Given the description of an element on the screen output the (x, y) to click on. 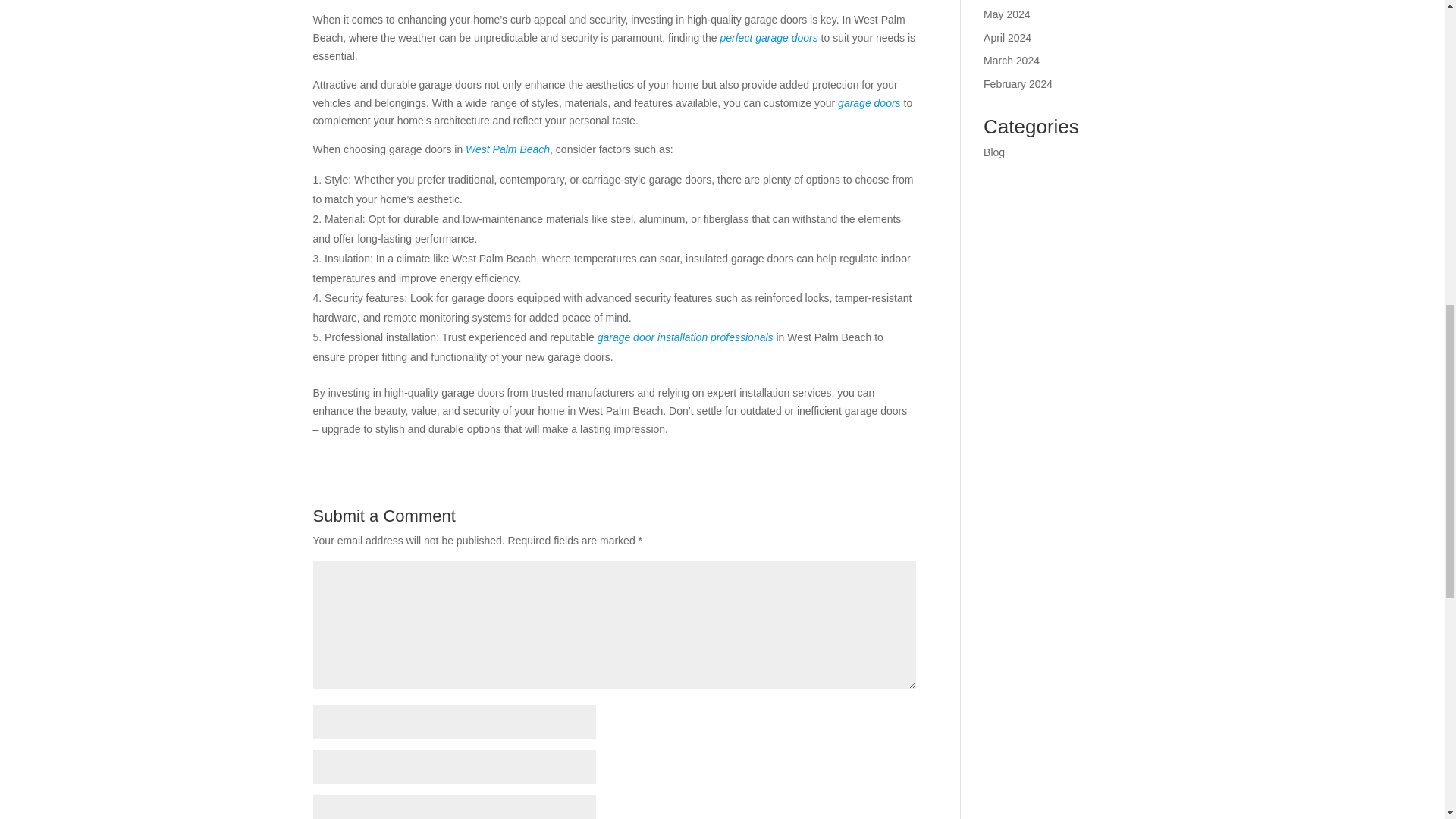
perfect garage doors (767, 37)
West Palm Beach (507, 149)
garage doors (869, 102)
April 2024 (1007, 37)
garage doors (869, 102)
Blog (994, 152)
May 2024 (1006, 14)
garage door installation professionals (684, 337)
March 2024 (1011, 60)
garage door installation professionals (684, 337)
